Given the description of an element on the screen output the (x, y) to click on. 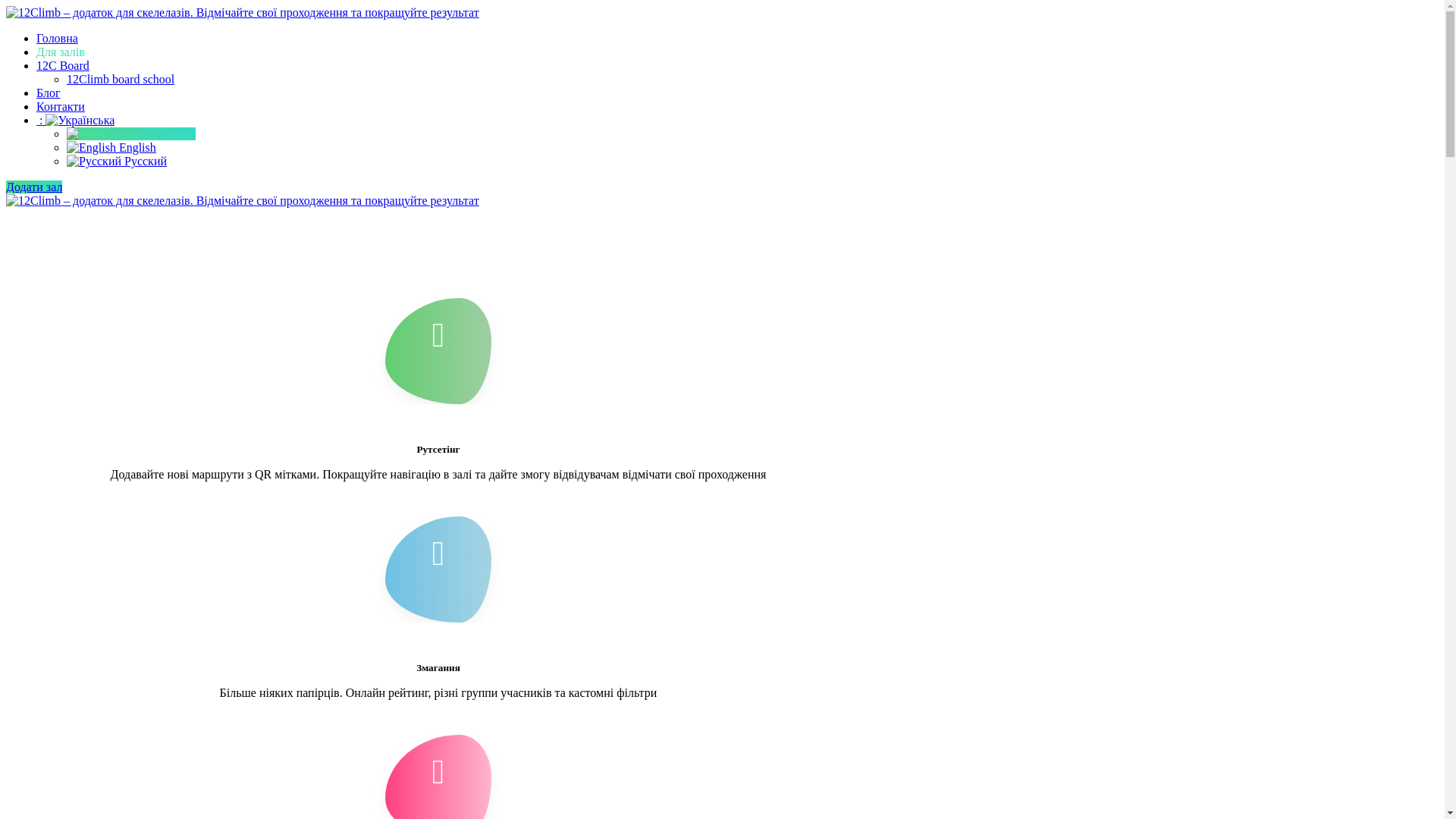
12Climb board school Element type: text (120, 78)
12C Board Element type: text (62, 65)
 :  Element type: text (75, 119)
 English Element type: text (111, 147)
